Given the description of an element on the screen output the (x, y) to click on. 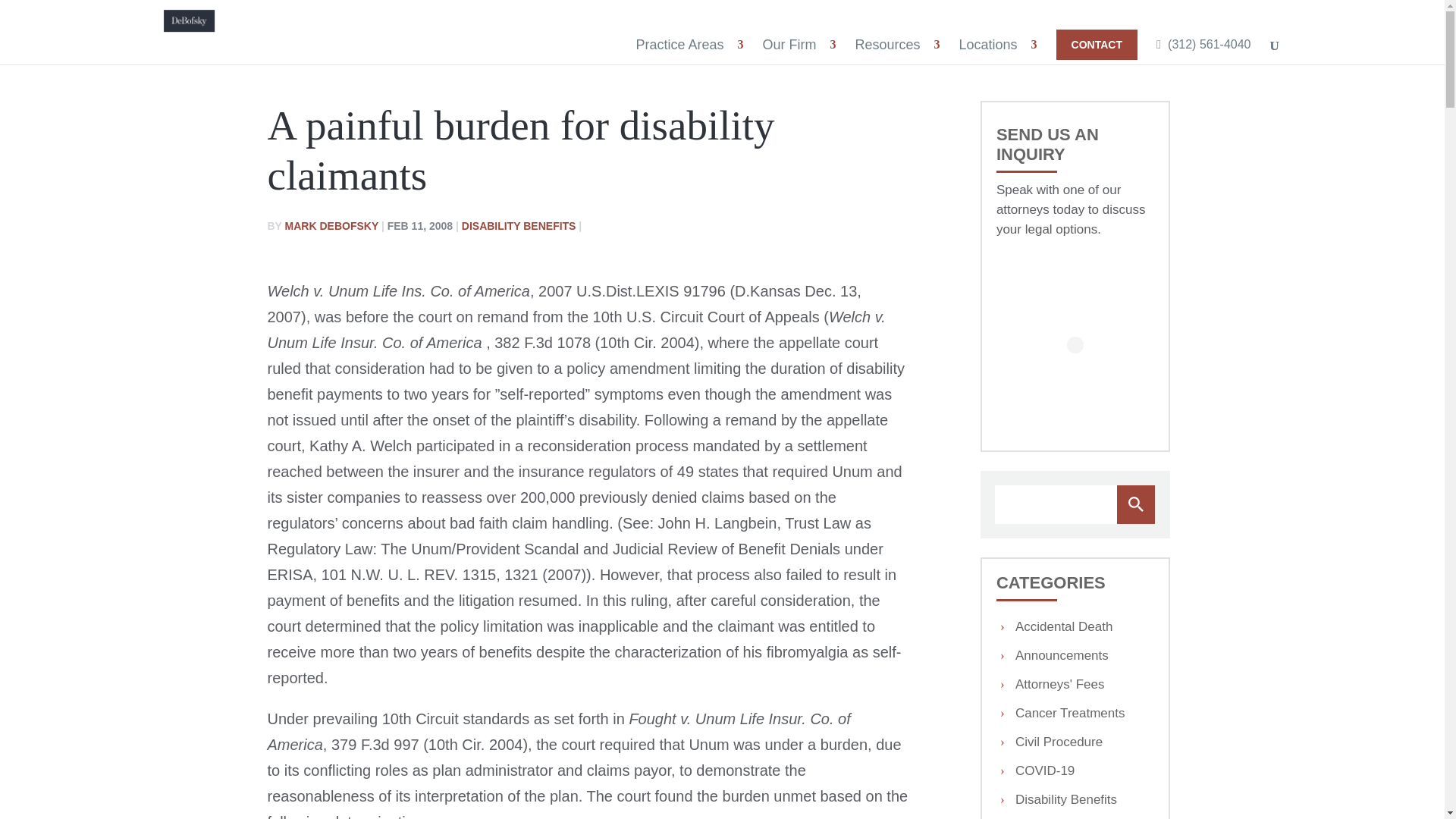
Locations (990, 44)
Our Firm (791, 44)
Practice Areas (681, 44)
Resources (889, 44)
Search (1135, 504)
CONTACT (1097, 44)
Posts by Mark Debofsky (331, 225)
